Given the description of an element on the screen output the (x, y) to click on. 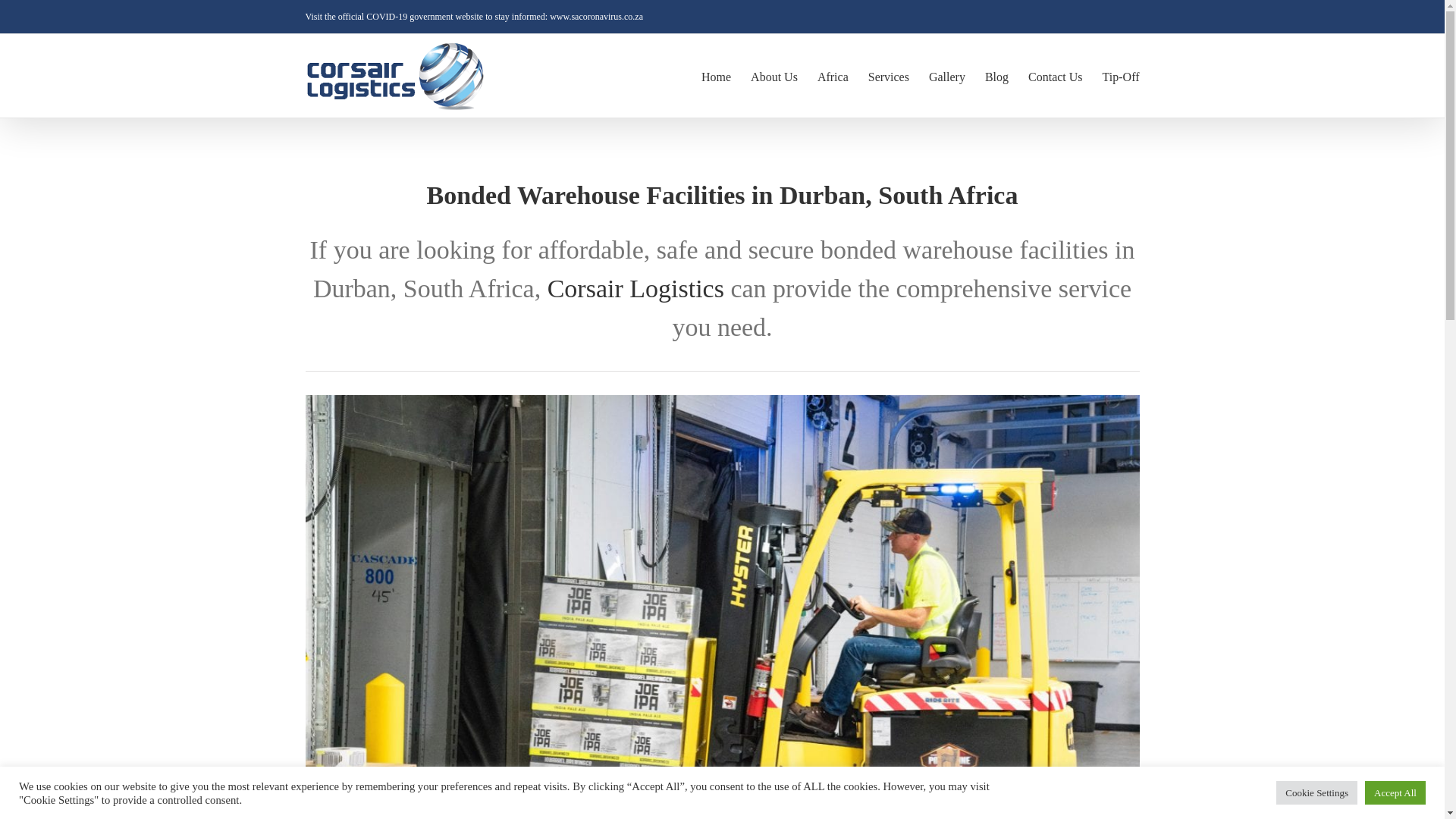
Corsair Logistics (635, 288)
man-riding-a-yellow-forklift-with-boxes-1267324 (721, 399)
www.sacoronavirus.co.za (596, 16)
